Given the description of an element on the screen output the (x, y) to click on. 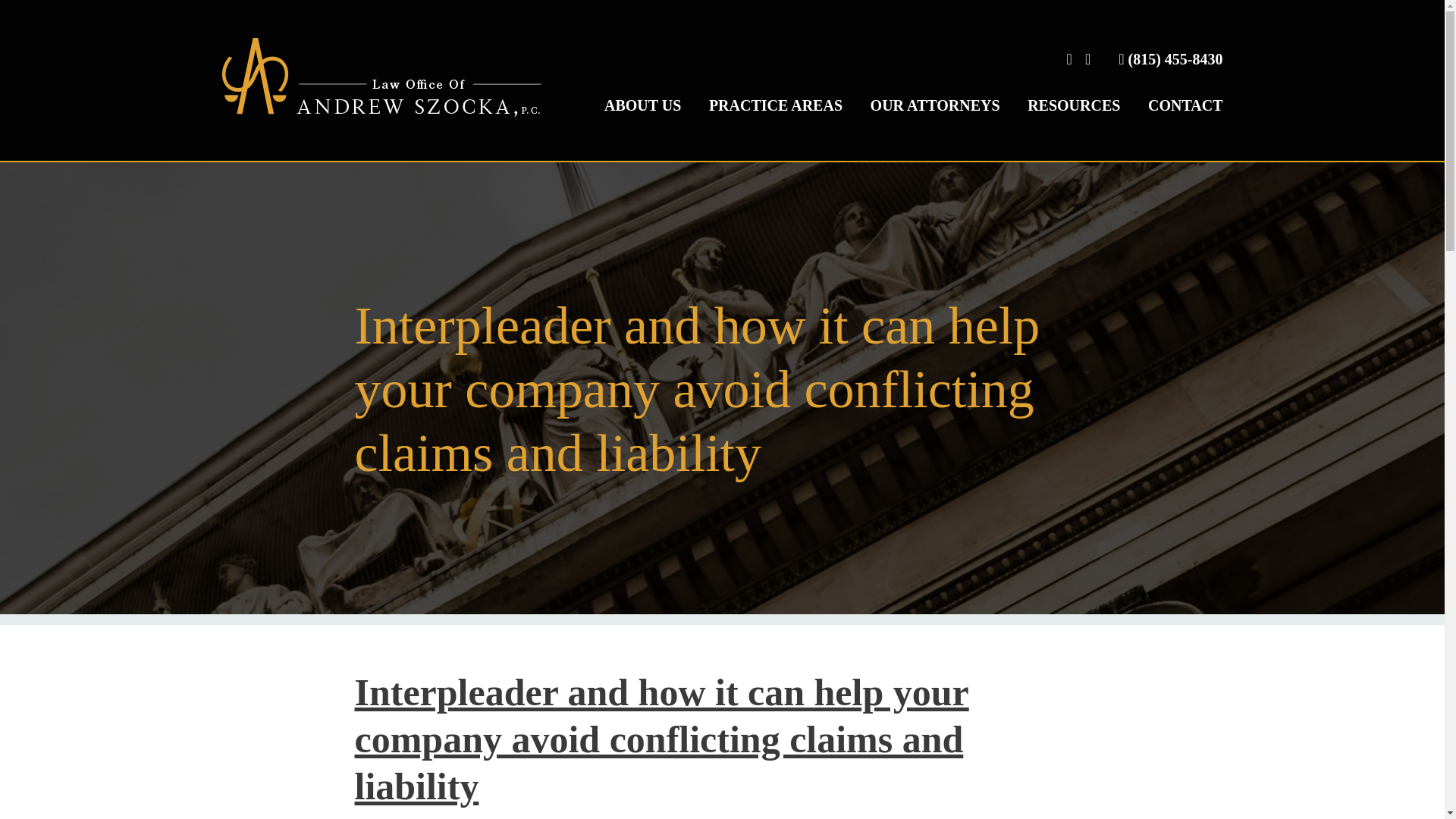
PRACTICE AREAS (776, 119)
logo (380, 77)
RESOURCES (1073, 119)
CONTACT (1185, 119)
ABOUT US (642, 119)
OUR ATTORNEYS (935, 119)
Practice Areas (776, 119)
Our Attorneys (935, 119)
